Given the description of an element on the screen output the (x, y) to click on. 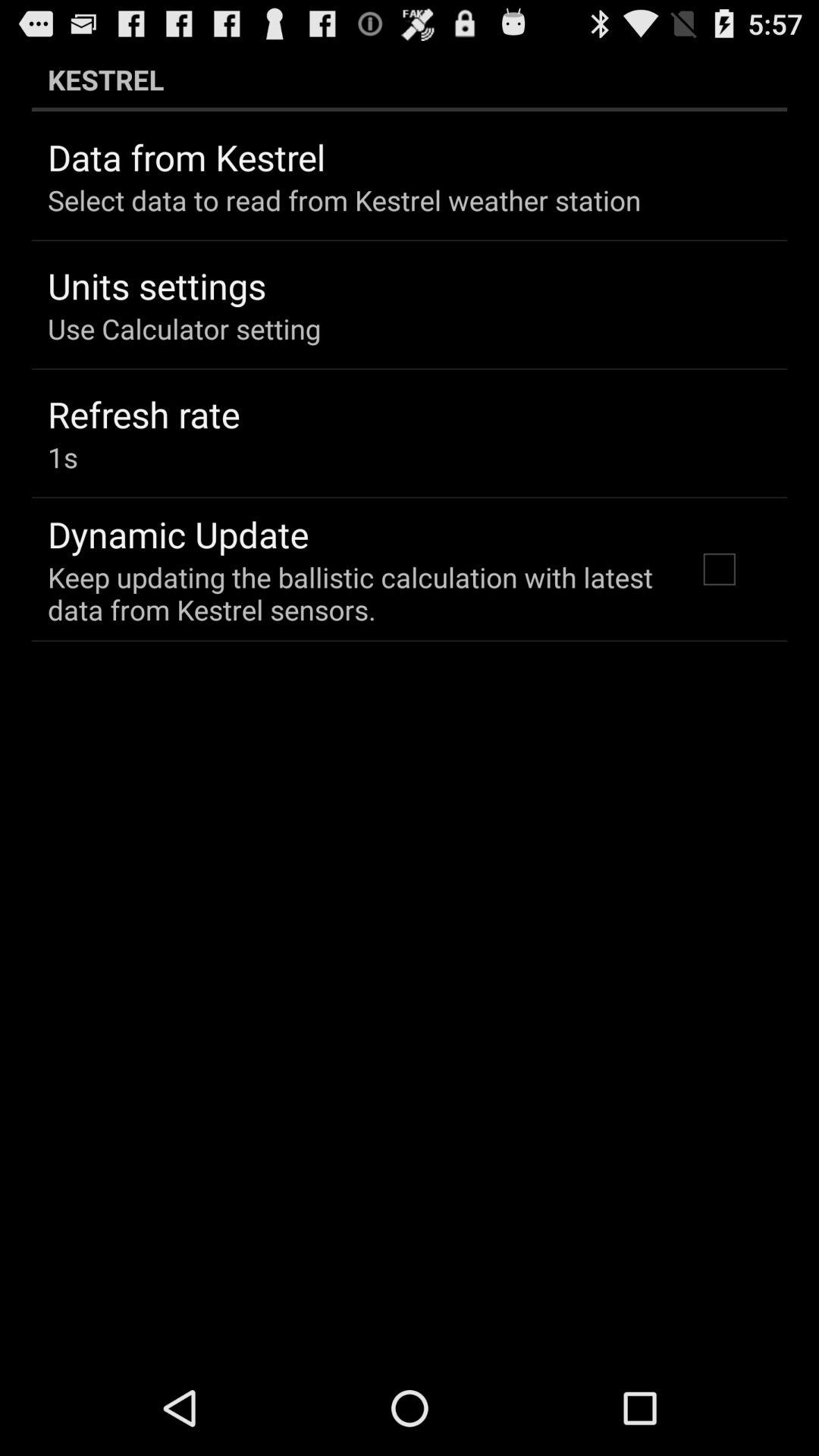
tap dynamic update icon (177, 534)
